Given the description of an element on the screen output the (x, y) to click on. 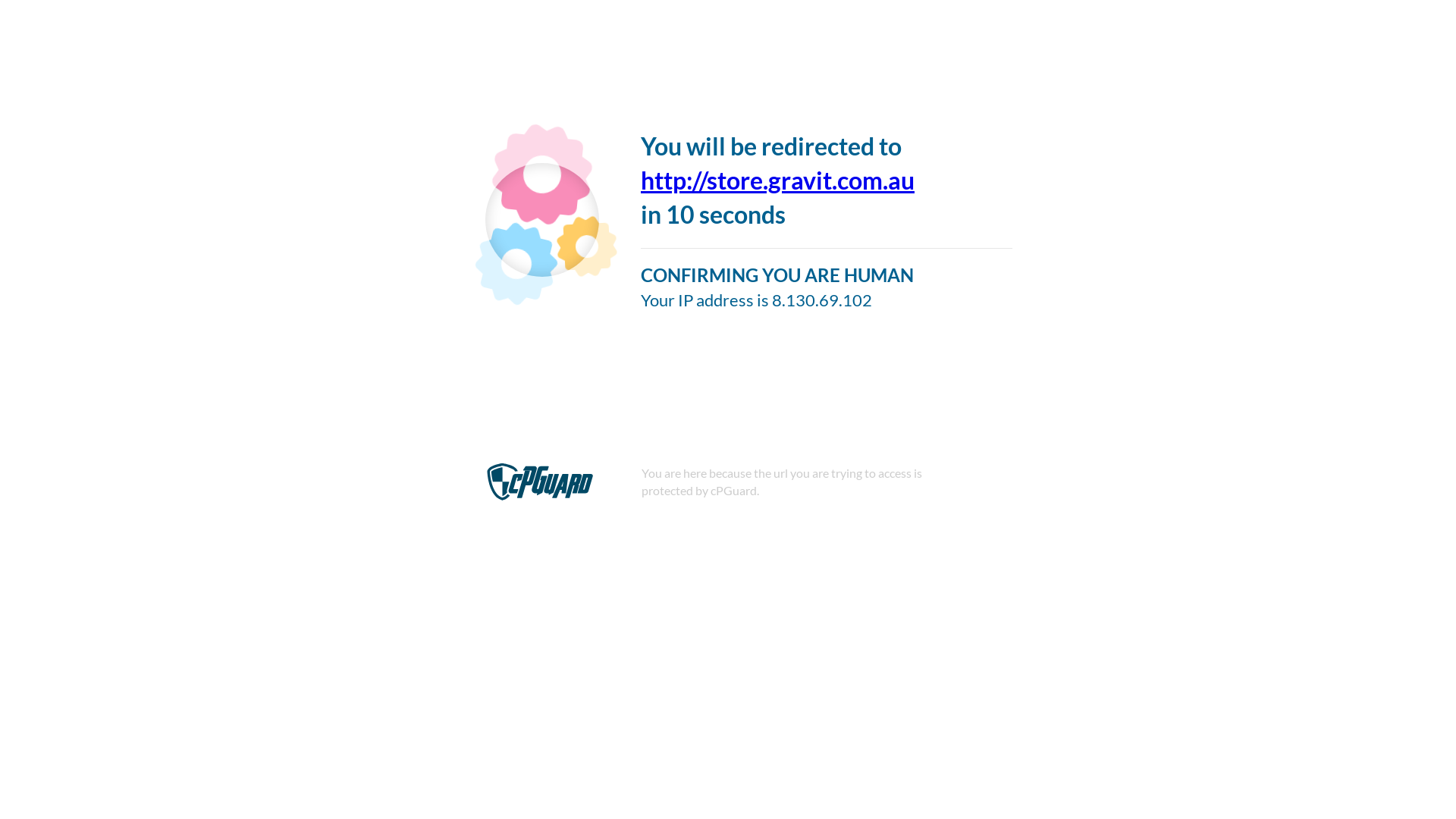
http://store.gravit.com.au Element type: text (777, 179)
